Given the description of an element on the screen output the (x, y) to click on. 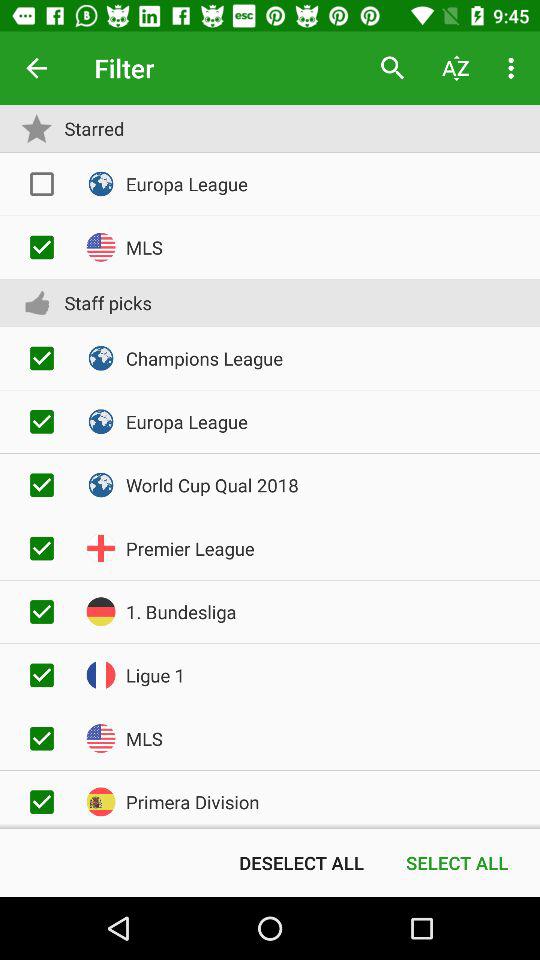
launch the item above europa league icon (455, 67)
